Given the description of an element on the screen output the (x, y) to click on. 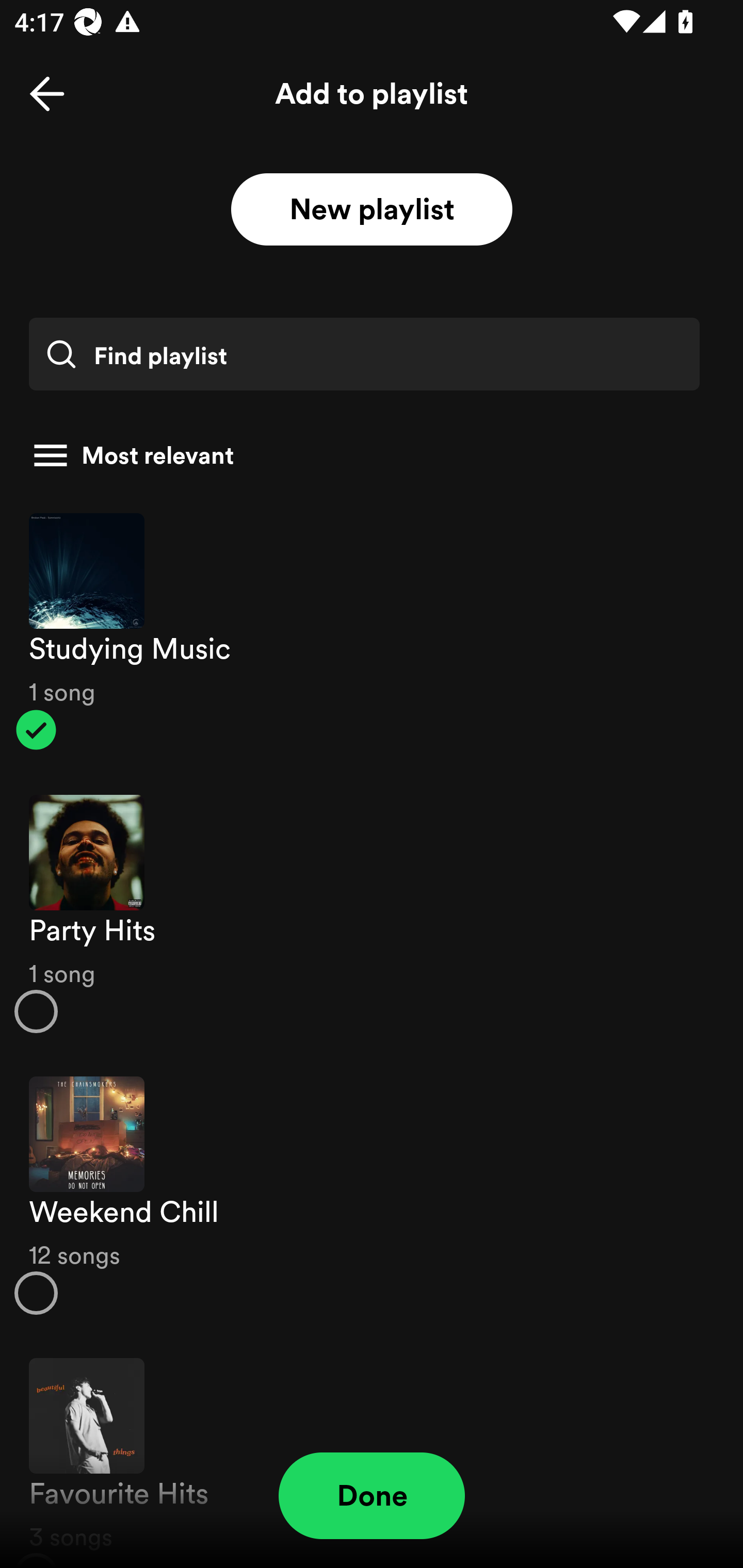
Back (46, 93)
New playlist (371, 210)
Find playlist (363, 354)
Most relevant (363, 455)
Studying Music 1 song (371, 631)
Party Hits 1 song (371, 914)
Weekend Chill 12 songs (371, 1195)
Favourite Hits 3 songs (371, 1451)
Done (371, 1495)
